Given the description of an element on the screen output the (x, y) to click on. 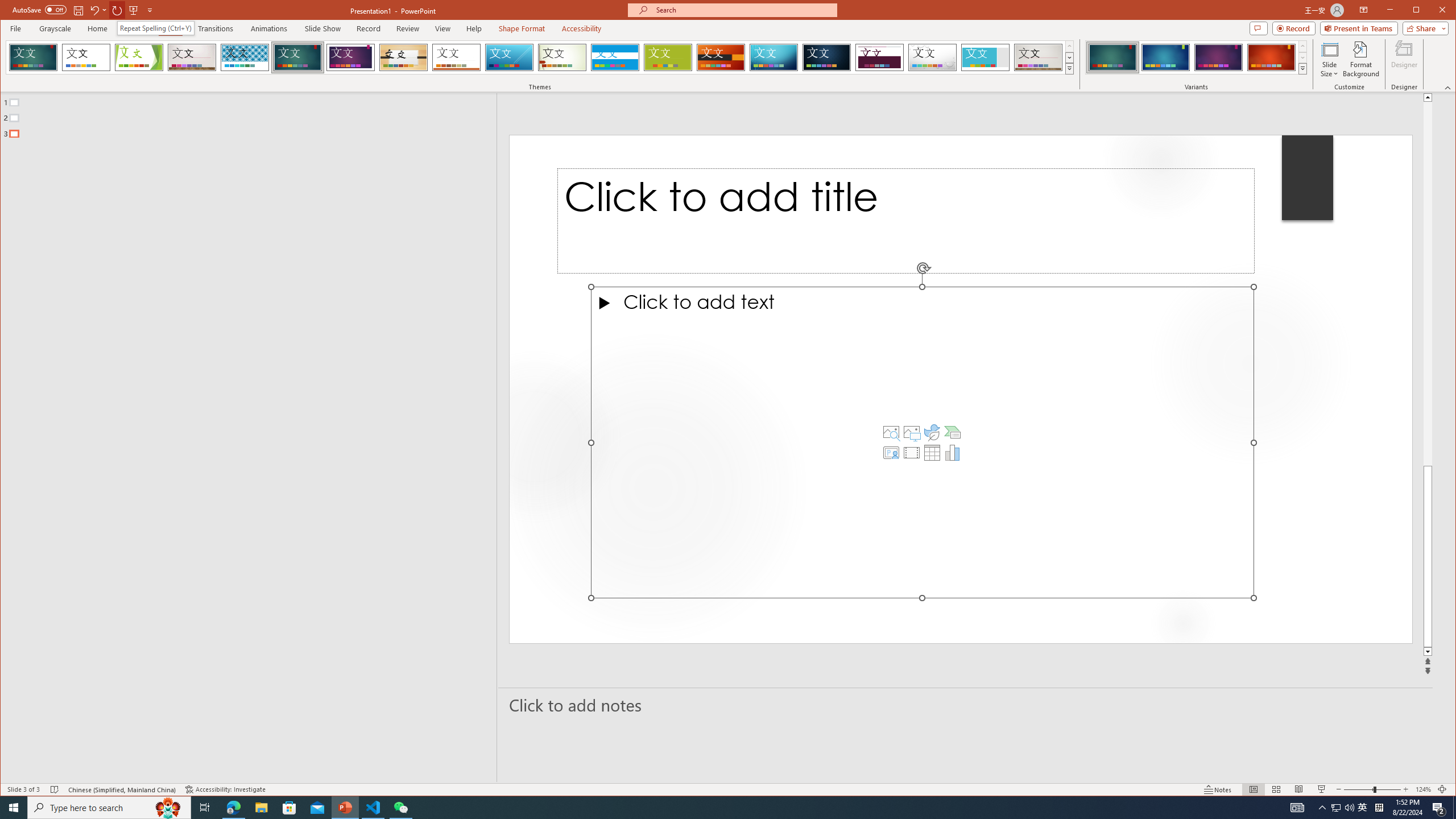
Variants (1302, 68)
WeChat - 1 running window (400, 807)
Basis (668, 57)
Gallery (1037, 57)
Action Center, 2 new notifications (1439, 807)
